Given the description of an element on the screen output the (x, y) to click on. 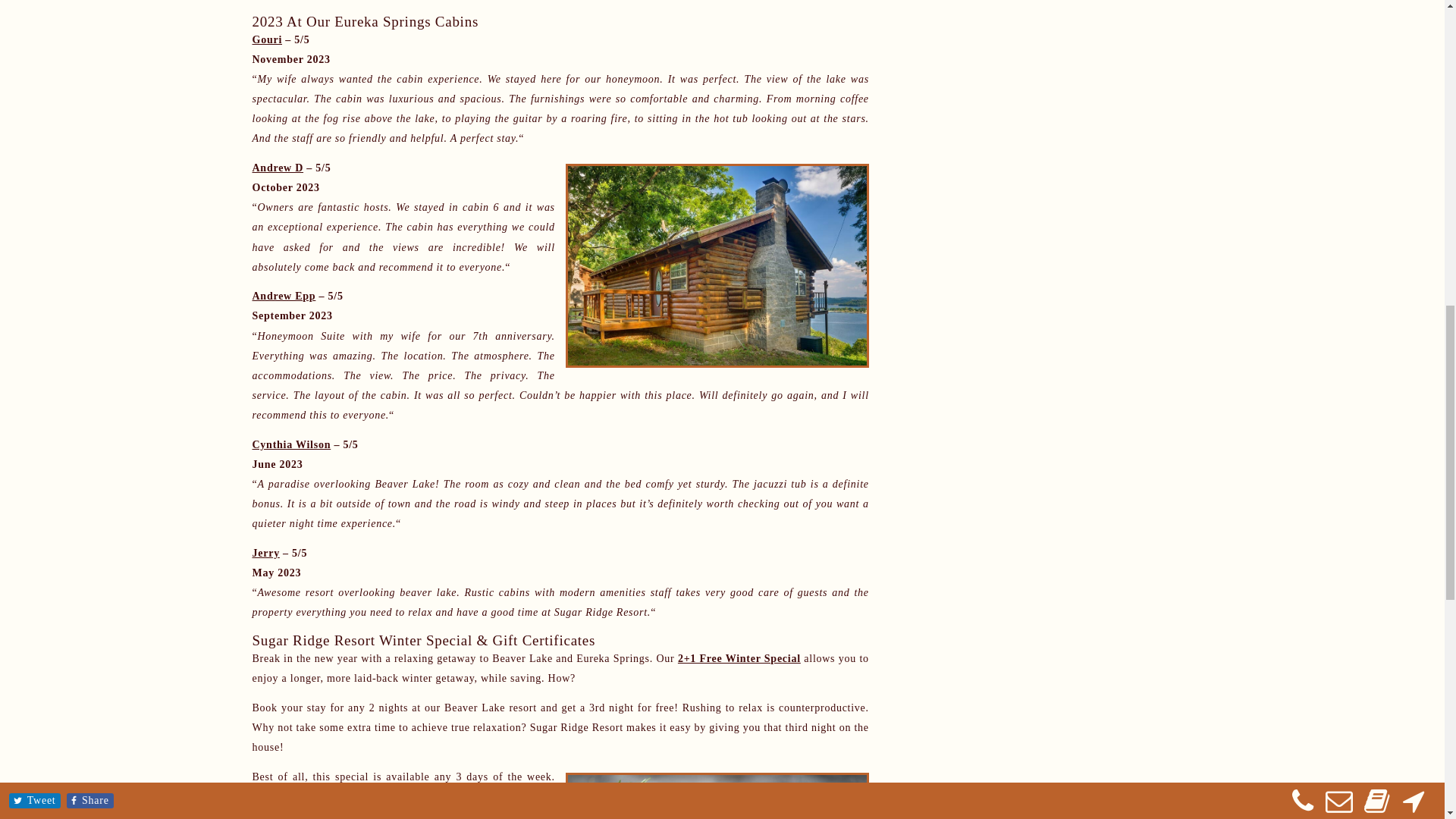
Gouri (266, 39)
Cynthia Wilson (290, 444)
Andrew Epp (283, 296)
Andrew D (276, 167)
